Given the description of an element on the screen output the (x, y) to click on. 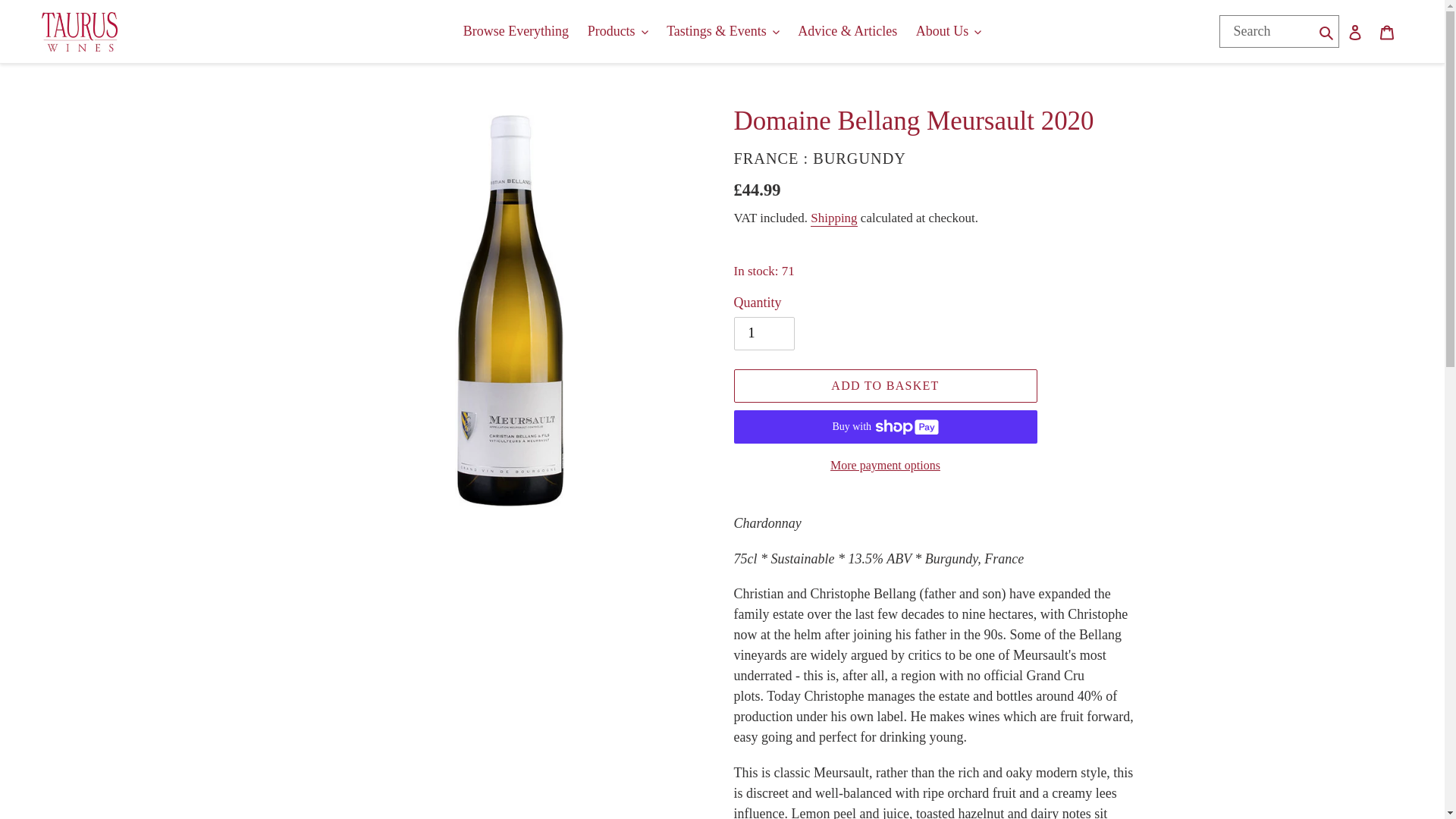
Browse Everything (515, 31)
Products (617, 31)
1 (763, 333)
About Us (949, 31)
